Given the description of an element on the screen output the (x, y) to click on. 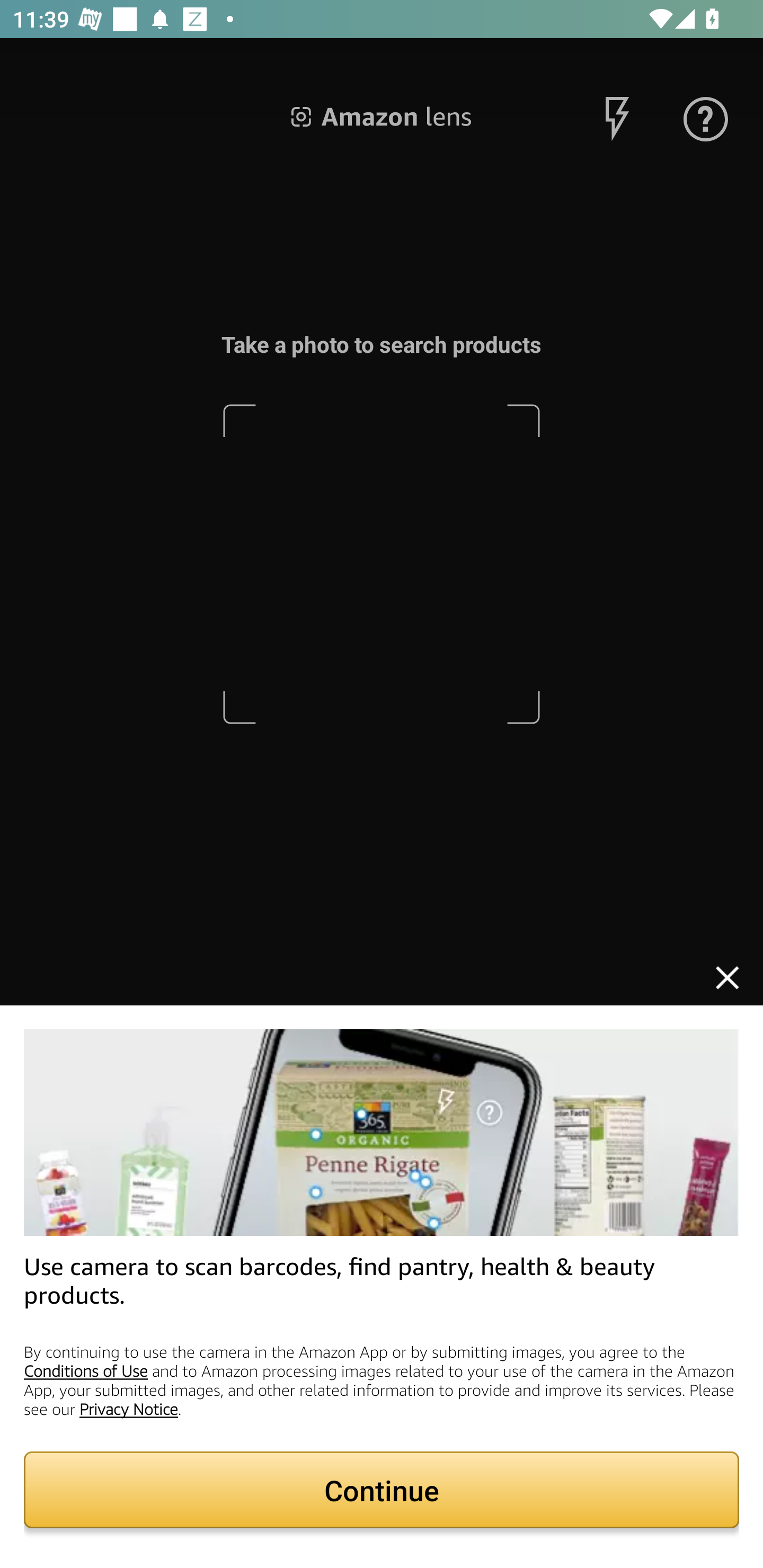
Continue (381, 1489)
